Given the description of an element on the screen output the (x, y) to click on. 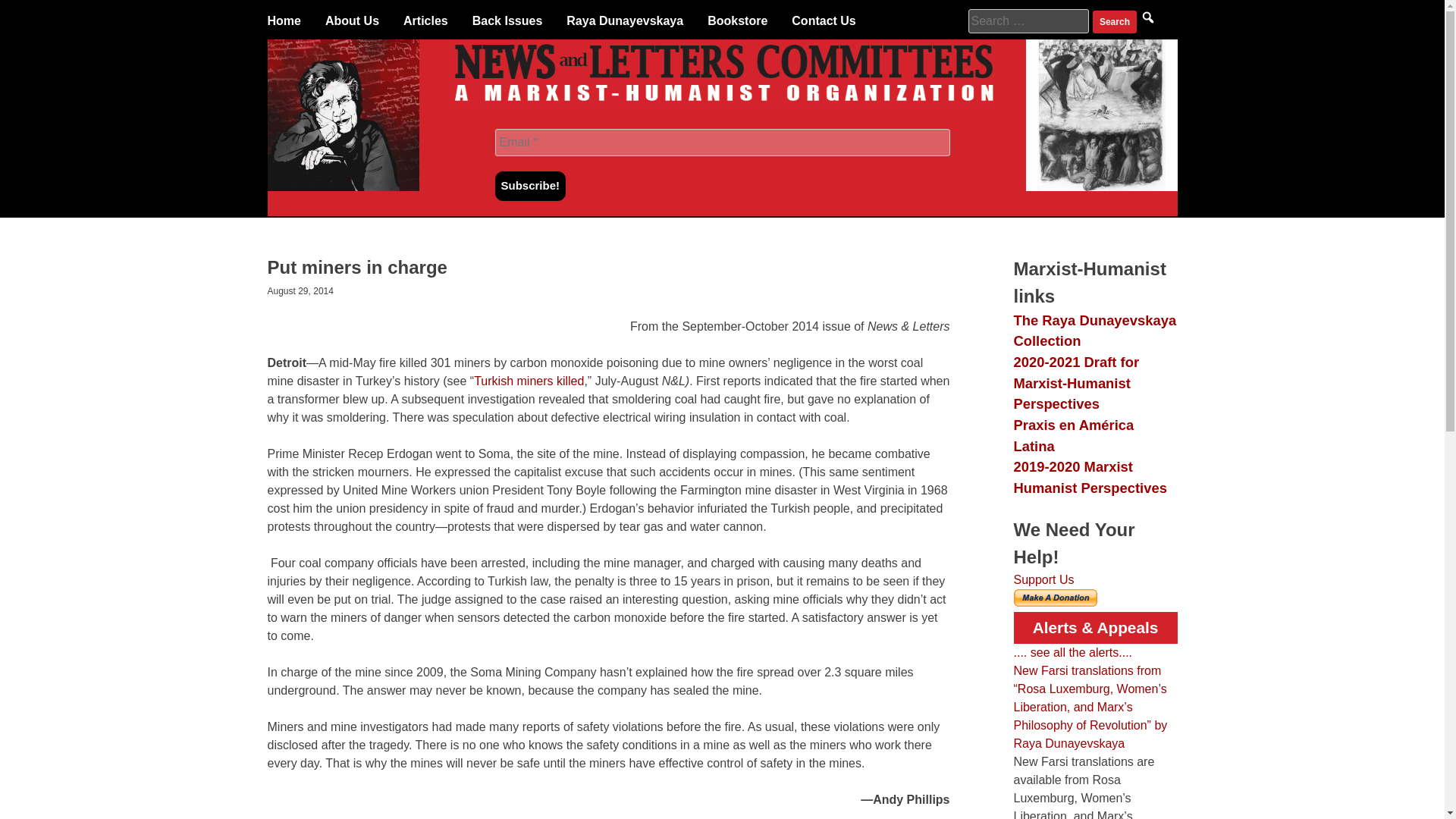
Raya Dunayevskaya (624, 21)
About Us (351, 21)
Search (1115, 21)
Back Issues (507, 21)
2020-2021 Draft for Marxist-Humanist Perspectives (1075, 382)
Bookstore (737, 21)
Search (1115, 21)
Email (722, 142)
The Raya Dunayevskaya Collection (1094, 330)
Subscribe! (530, 185)
Contact Us (824, 21)
Home (282, 21)
2019-2020 Marxist Humanist Perspectives (1089, 477)
Articles (425, 21)
Turkish miners killed (528, 380)
